Given the description of an element on the screen output the (x, y) to click on. 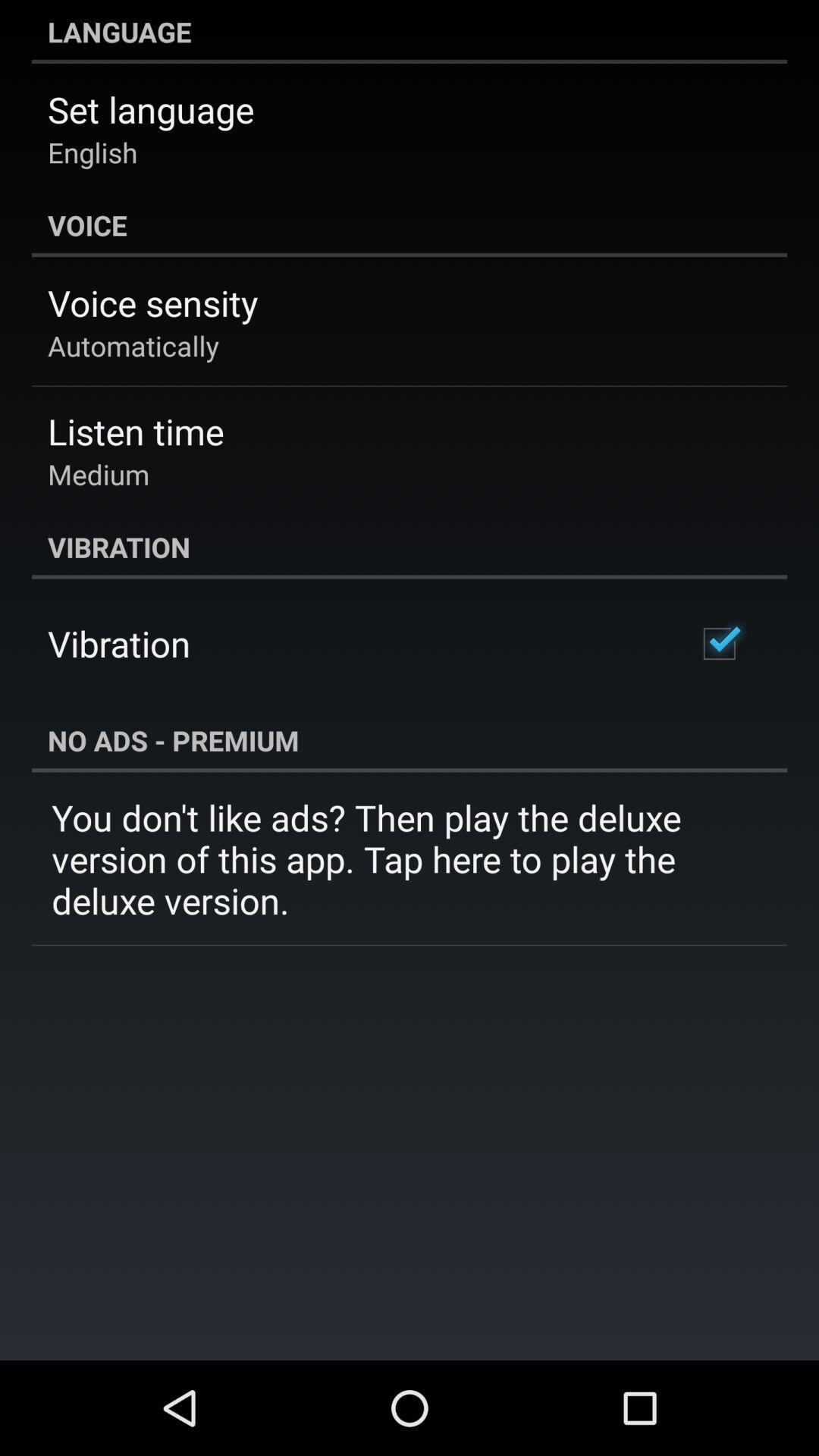
jump until voice sensity app (152, 302)
